Given the description of an element on the screen output the (x, y) to click on. 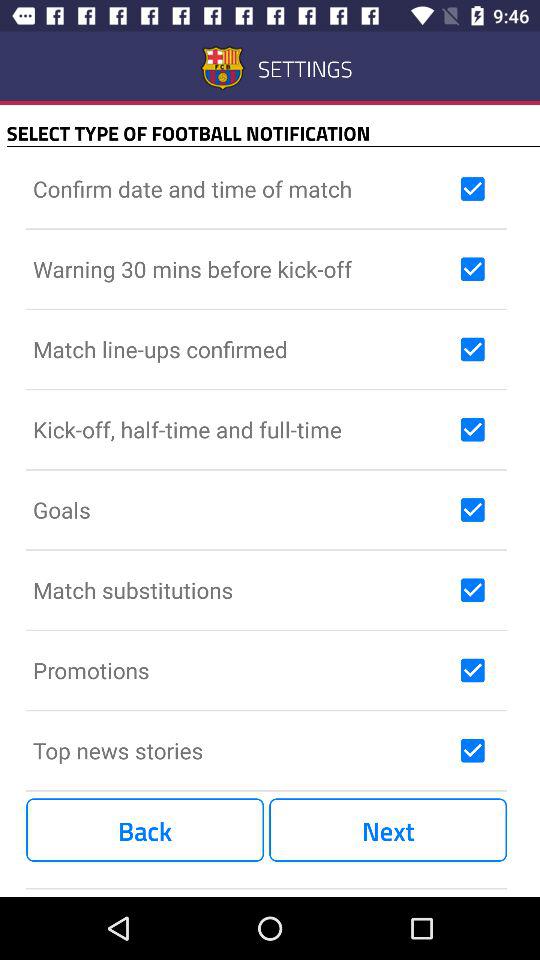
deselect notification (472, 349)
